Given the description of an element on the screen output the (x, y) to click on. 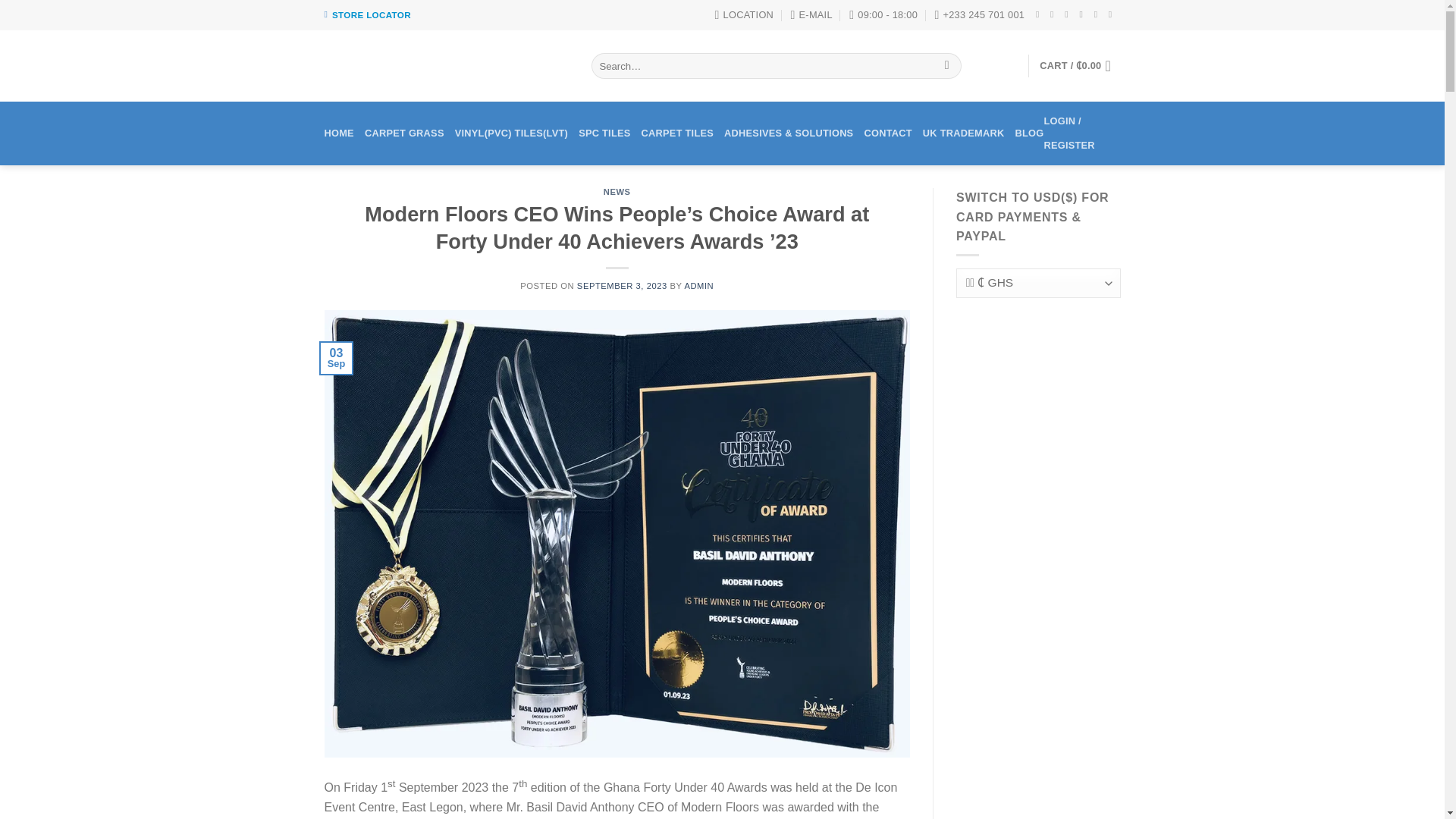
STORE LOCATOR (371, 15)
LOCATION (743, 15)
Cart (1079, 65)
Follow on Instagram (1054, 14)
ADMIN (698, 285)
CONTACT (887, 133)
CARPET TILES (678, 133)
CARPET GRASS (404, 133)
Follow on Twitter (1082, 14)
Follow on Facebook (1040, 14)
SEPTEMBER 3, 2023 (621, 285)
Follow on YouTube (1113, 14)
Follow on TikTok (1069, 14)
BLOG (1028, 133)
E-MAIL (810, 15)
